Given the description of an element on the screen output the (x, y) to click on. 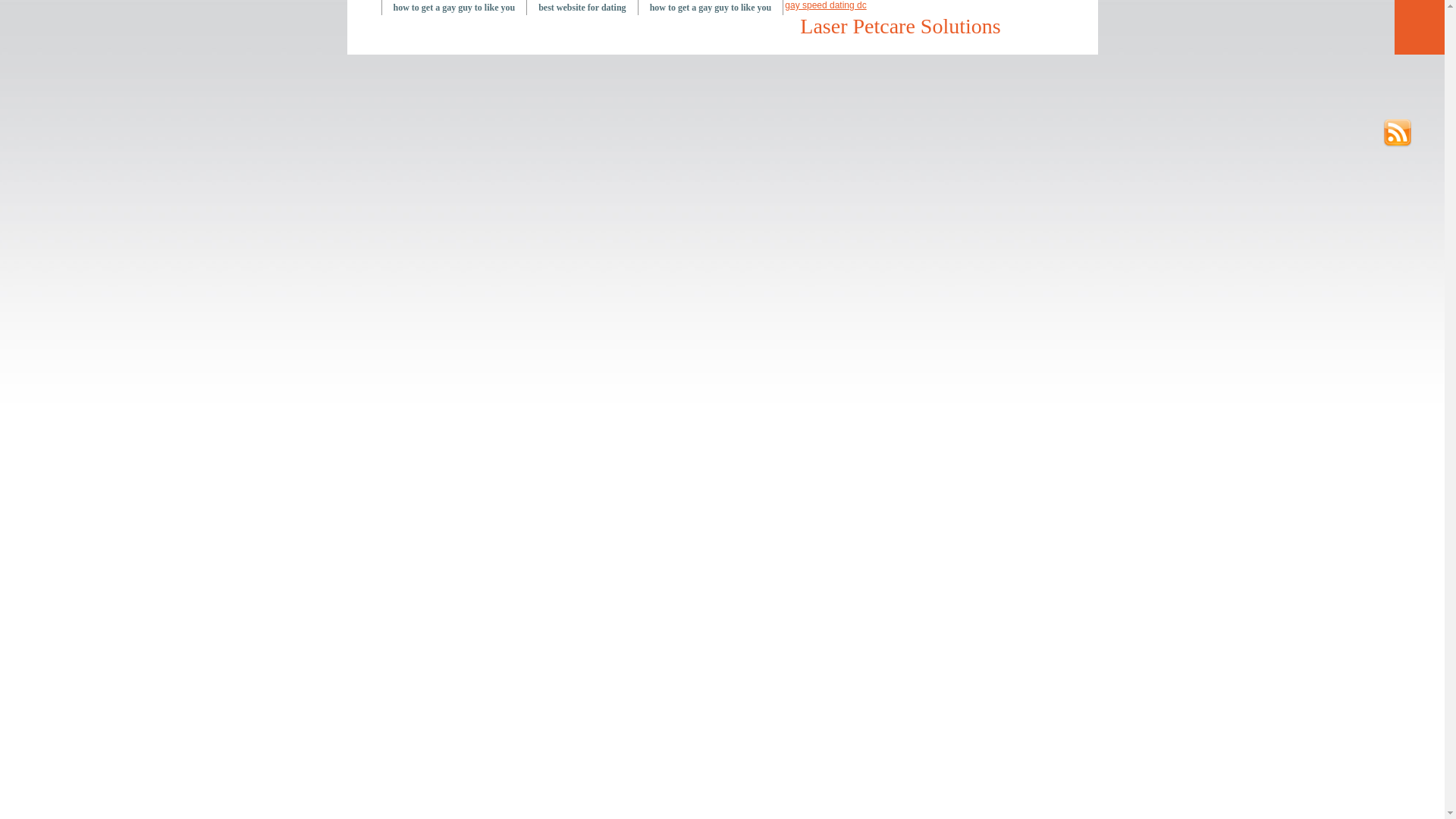
gay speed dating dc (825, 5)
how to get a gay guy to like you (454, 7)
best website for dating (582, 7)
how to get a gay guy to like you (711, 7)
